Given the description of an element on the screen output the (x, y) to click on. 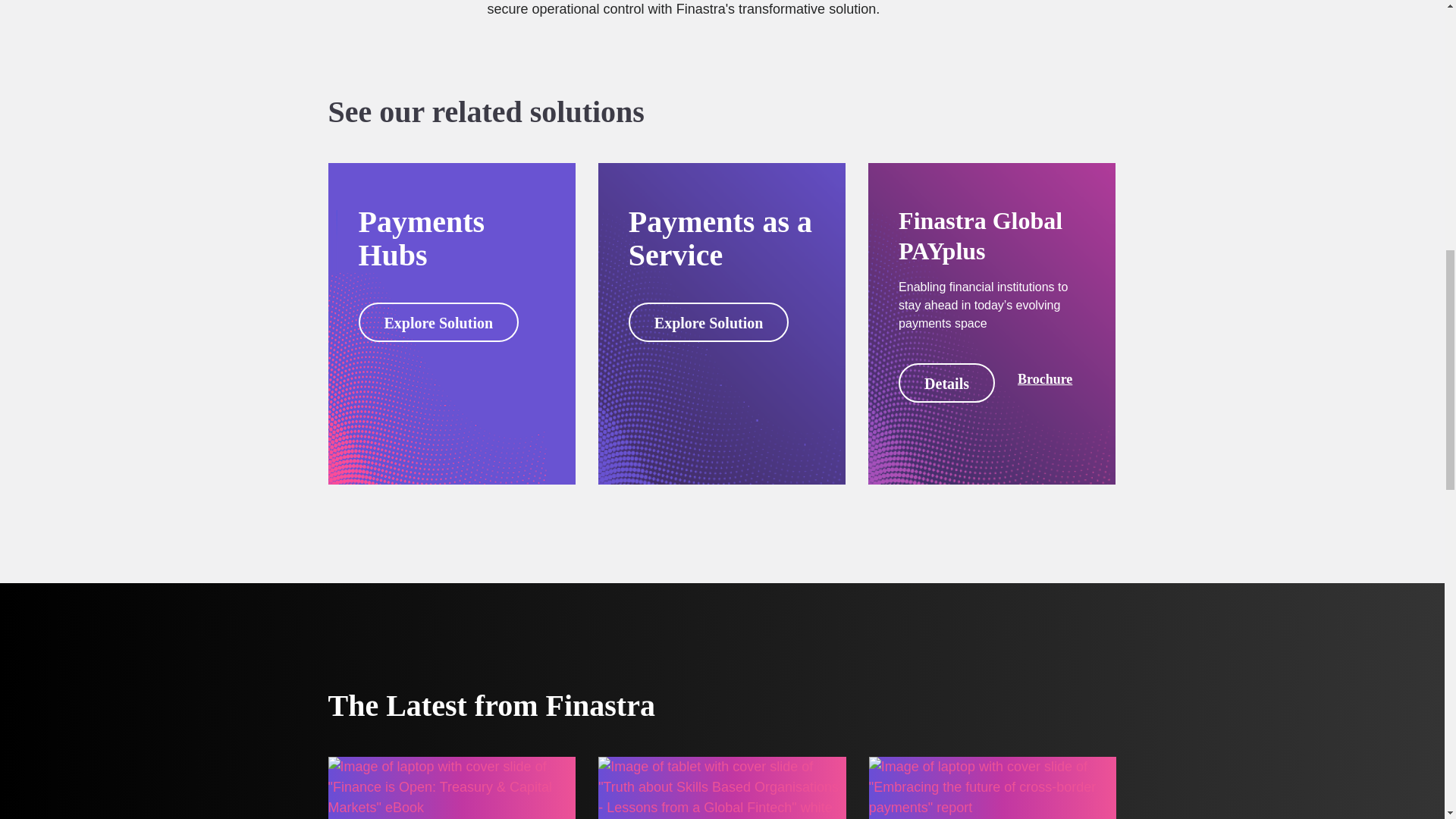
resource-finastra-global-playplus.pdf (1044, 379)
